Given the description of an element on the screen output the (x, y) to click on. 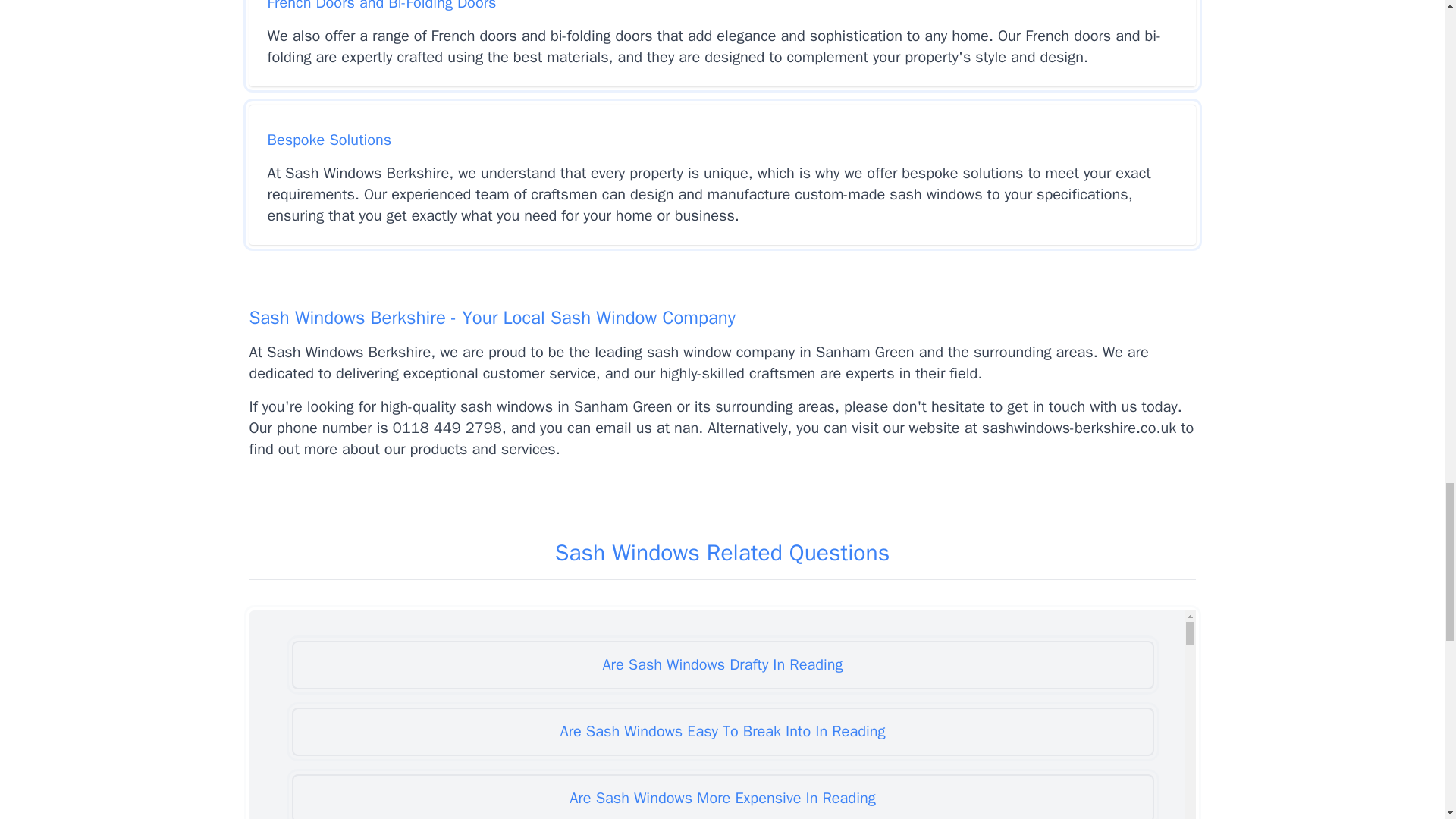
Are Sash Windows Easy To Break Into In Reading (722, 731)
Are Sash Windows Drafty In Reading (722, 664)
Are Sash Windows More Expensive In Reading (722, 796)
